Given the description of an element on the screen output the (x, y) to click on. 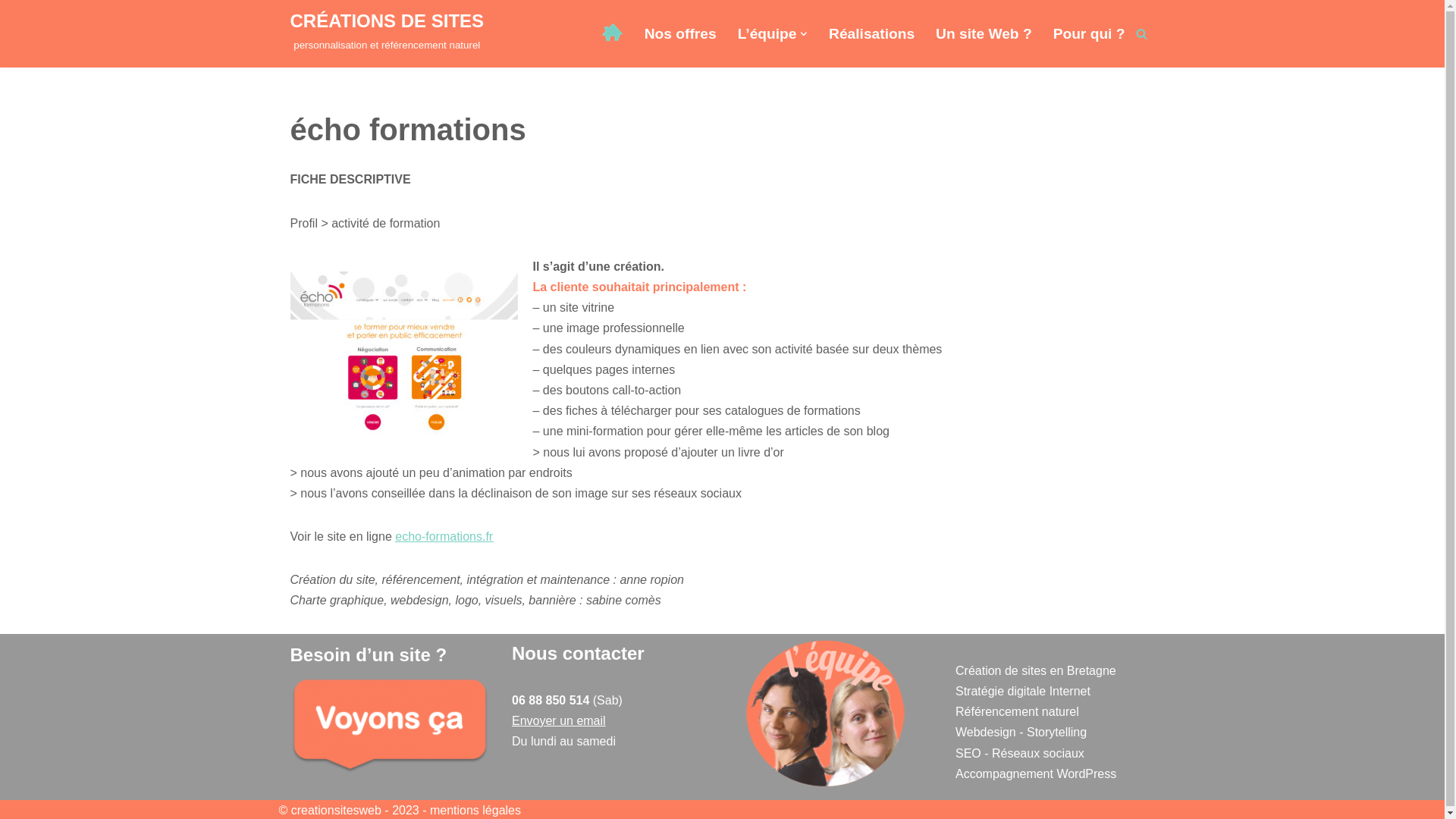
Accueil Element type: hover (611, 31)
Envoyer un email Element type: text (558, 720)
Aller au contenu Element type: text (11, 31)
Pour qui ? Element type: text (1089, 33)
echo-formations.fr Element type: text (443, 536)
Nos offres Element type: text (680, 33)
Un site Web ? Element type: text (983, 33)
Besoin d'un site ? Element type: hover (389, 725)
